Given the description of an element on the screen output the (x, y) to click on. 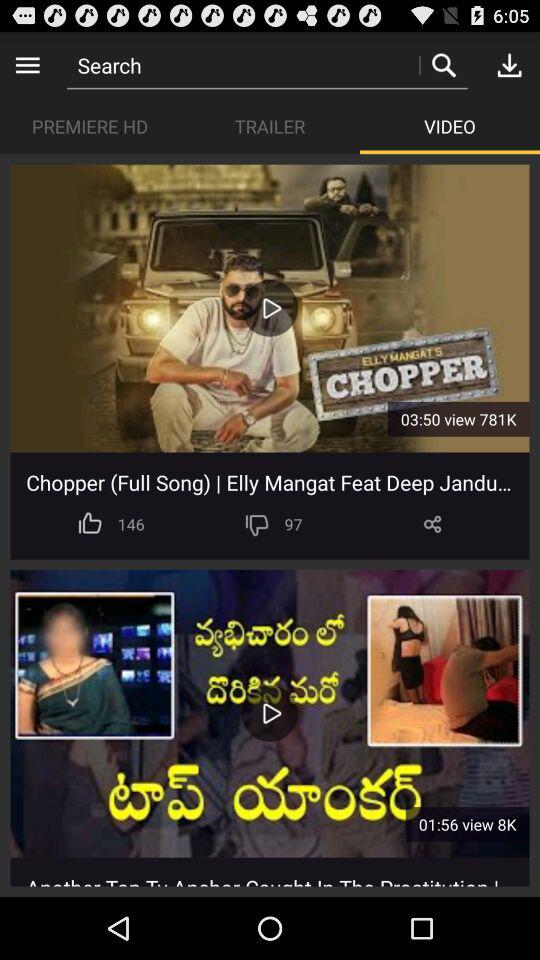
turn on the item next to search (27, 64)
